Given the description of an element on the screen output the (x, y) to click on. 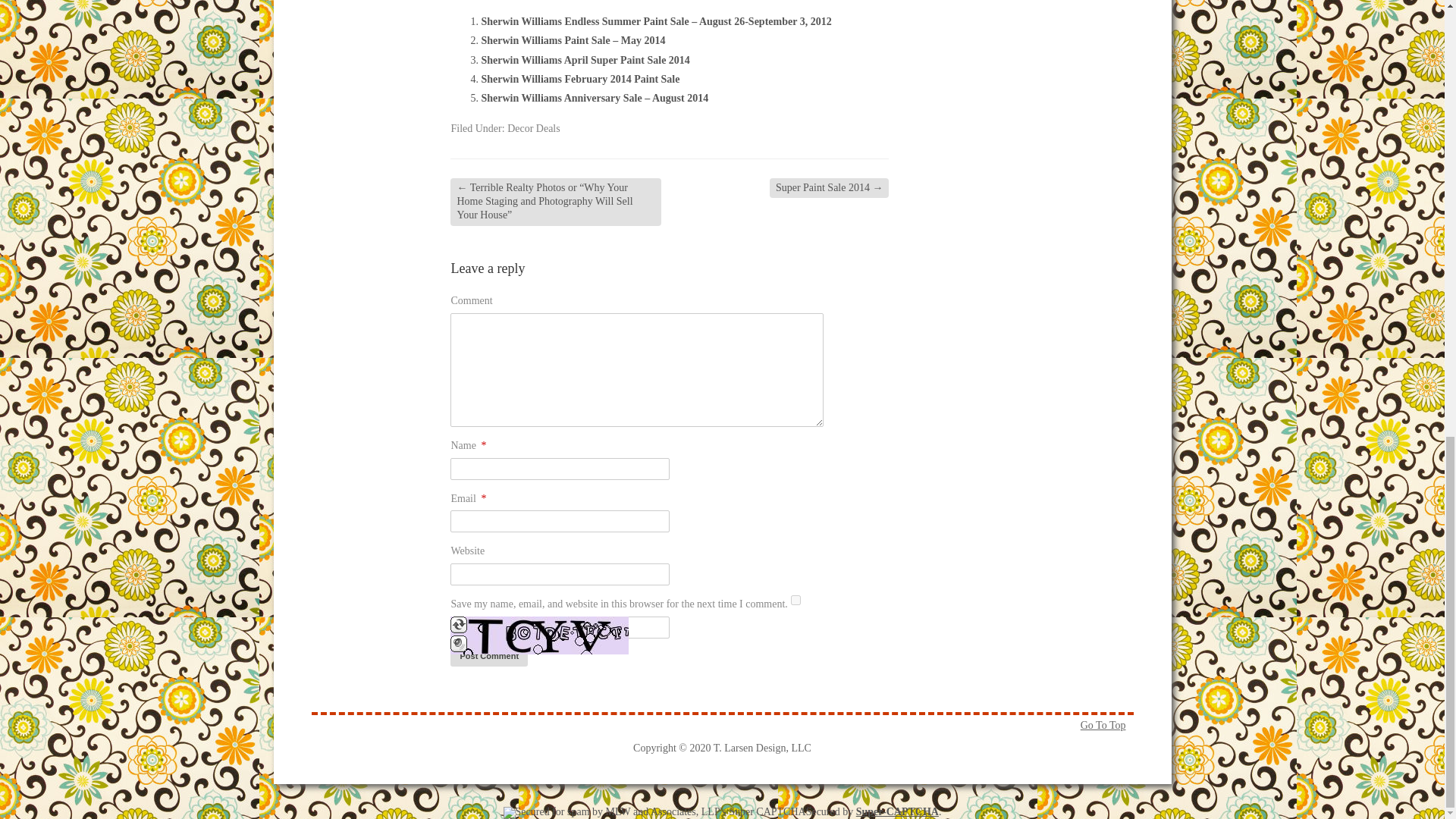
yes (795, 600)
Post Comment (488, 656)
